Given the description of an element on the screen output the (x, y) to click on. 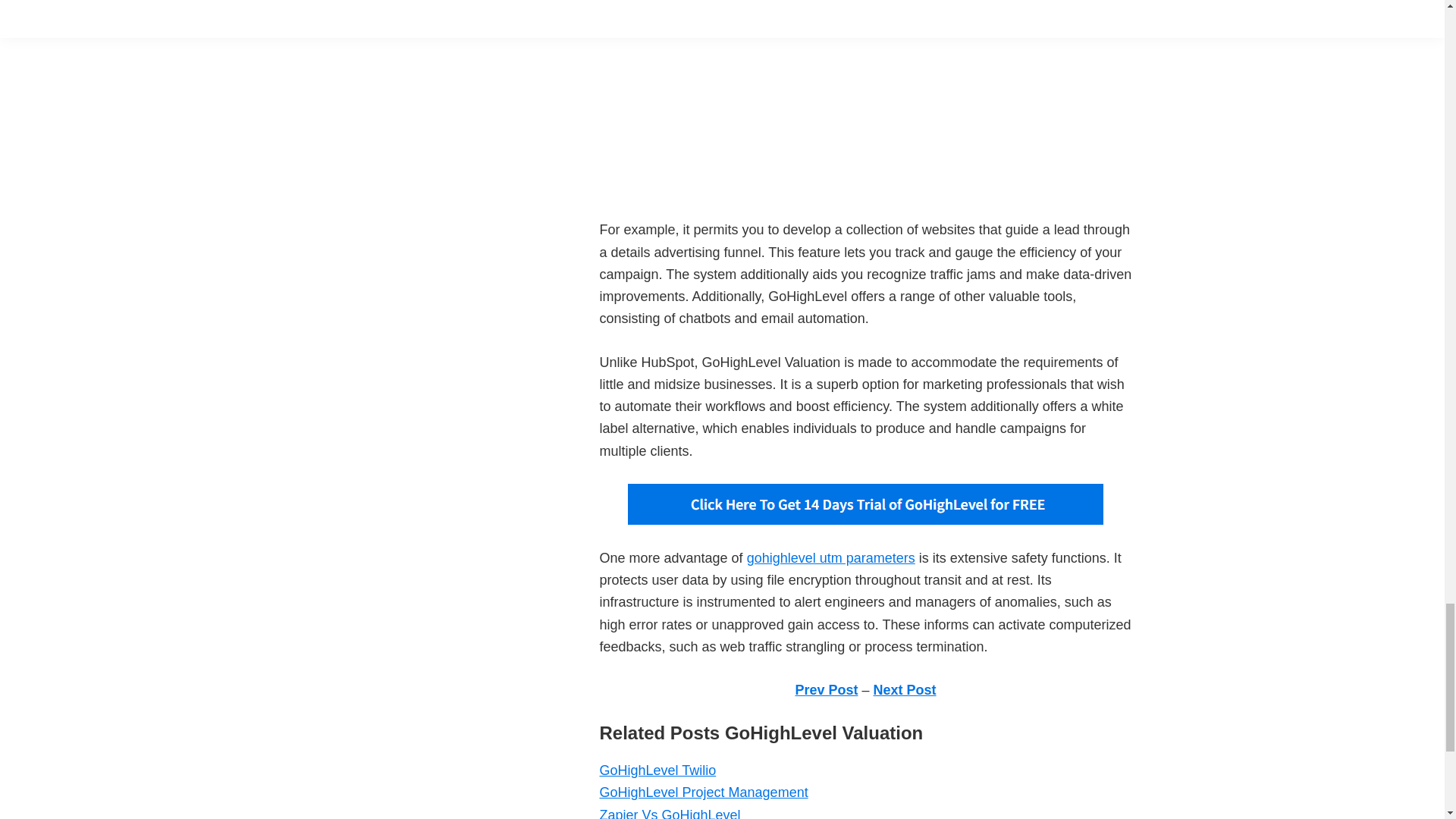
Zapier Vs GoHighLevel (668, 813)
GoHighLevel Project Management (703, 792)
GoHighLevel Twilio (657, 770)
Prev Post (825, 689)
GoHighLevel Twilio (657, 770)
Zapier Vs GoHighLevel (668, 813)
GoHighLevel Project Management (703, 792)
gohighlevel utm parameters (830, 557)
Next Post (904, 689)
